Given the description of an element on the screen output the (x, y) to click on. 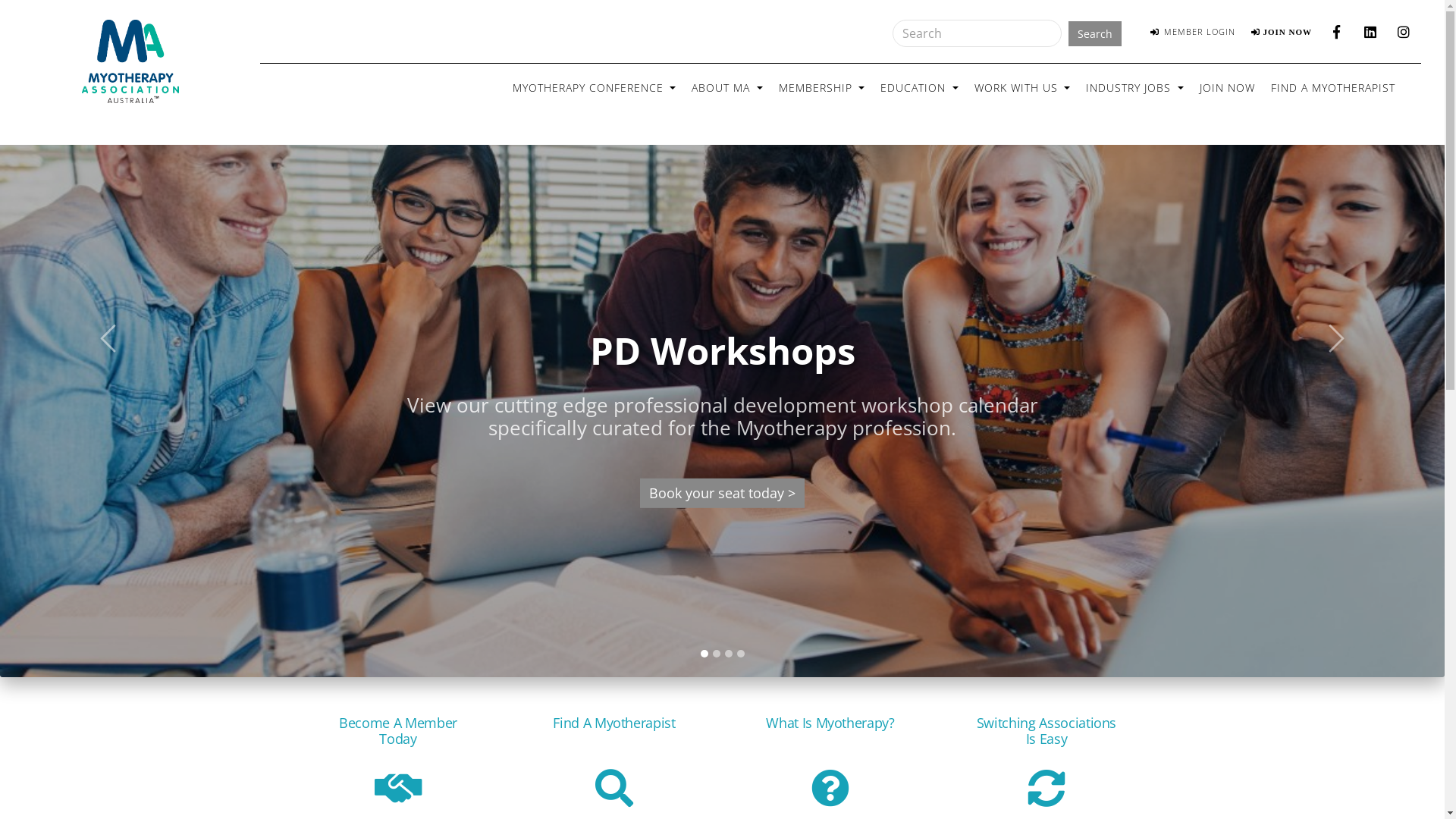
EDUCATION Element type: text (919, 87)
MYOTHERAPY CONFERENCE Element type: text (594, 87)
Book your seat today > Element type: text (722, 493)
WORK WITH US Element type: text (1022, 87)
MEMBER LOGIN Element type: text (1192, 31)
MEMBERSHIP Element type: text (821, 87)
What Is Myotherapy? Element type: text (830, 797)
Become A Member Today Element type: text (398, 797)
ABOUT MA Element type: text (726, 87)
FIND A MYOTHERAPIST Element type: text (1332, 87)
Find A Myotherapist Element type: text (613, 797)
Search Element type: text (1094, 33)
JOIN NOW Element type: text (1282, 31)
Switching Associations Is Easy Element type: text (1045, 797)
JOIN NOW Element type: text (1227, 87)
INDUSTRY JOBS Element type: text (1134, 87)
